Given the description of an element on the screen output the (x, y) to click on. 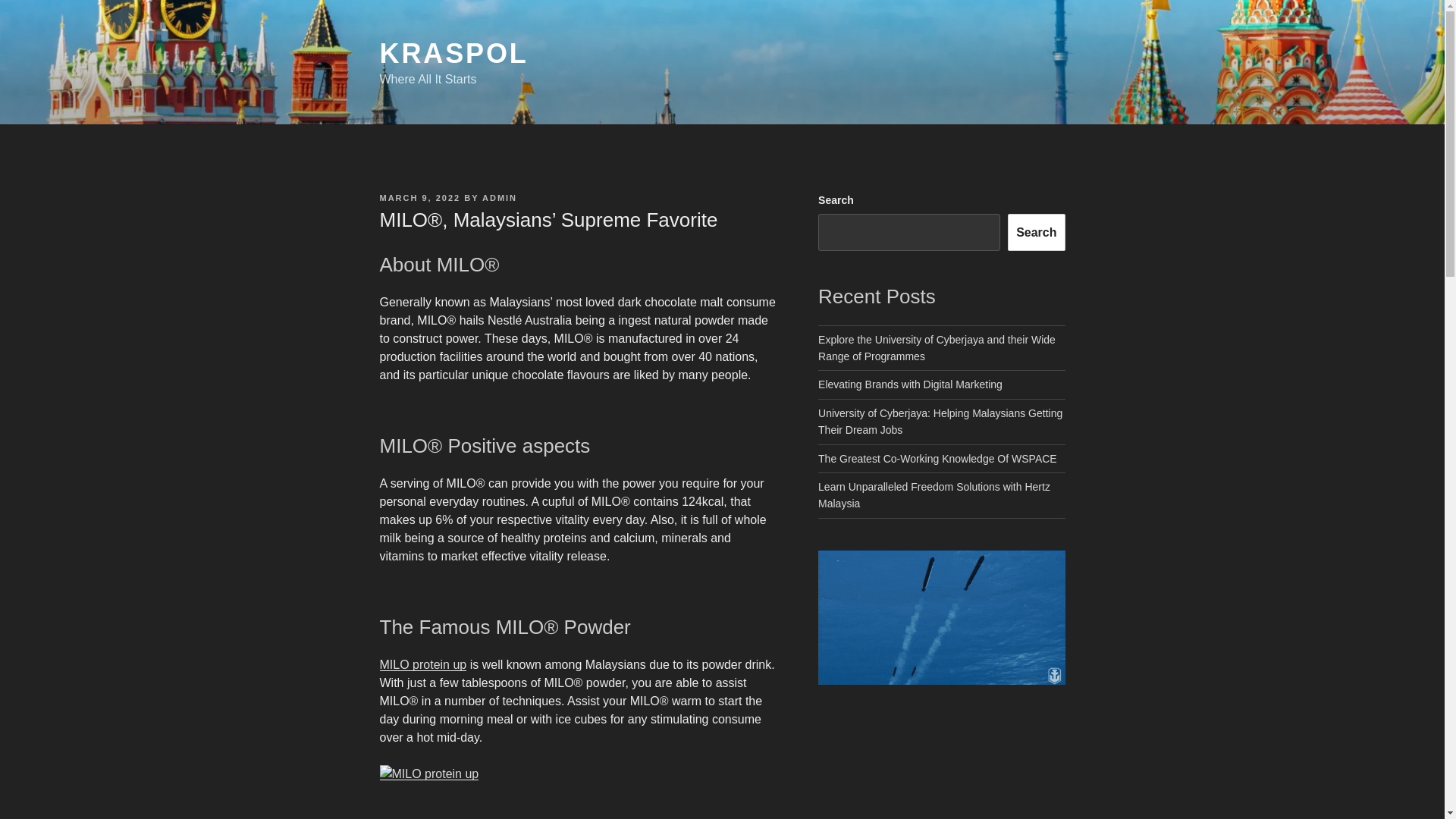
ADMIN (498, 197)
KRASPOL (452, 52)
Learn Unparalleled Freedom Solutions with Hertz Malaysia (933, 494)
MARCH 9, 2022 (419, 197)
MILO protein up (421, 664)
Elevating Brands with Digital Marketing (910, 384)
Search (1035, 231)
The Greatest Co-Working Knowledge Of WSPACE (937, 458)
